Given the description of an element on the screen output the (x, y) to click on. 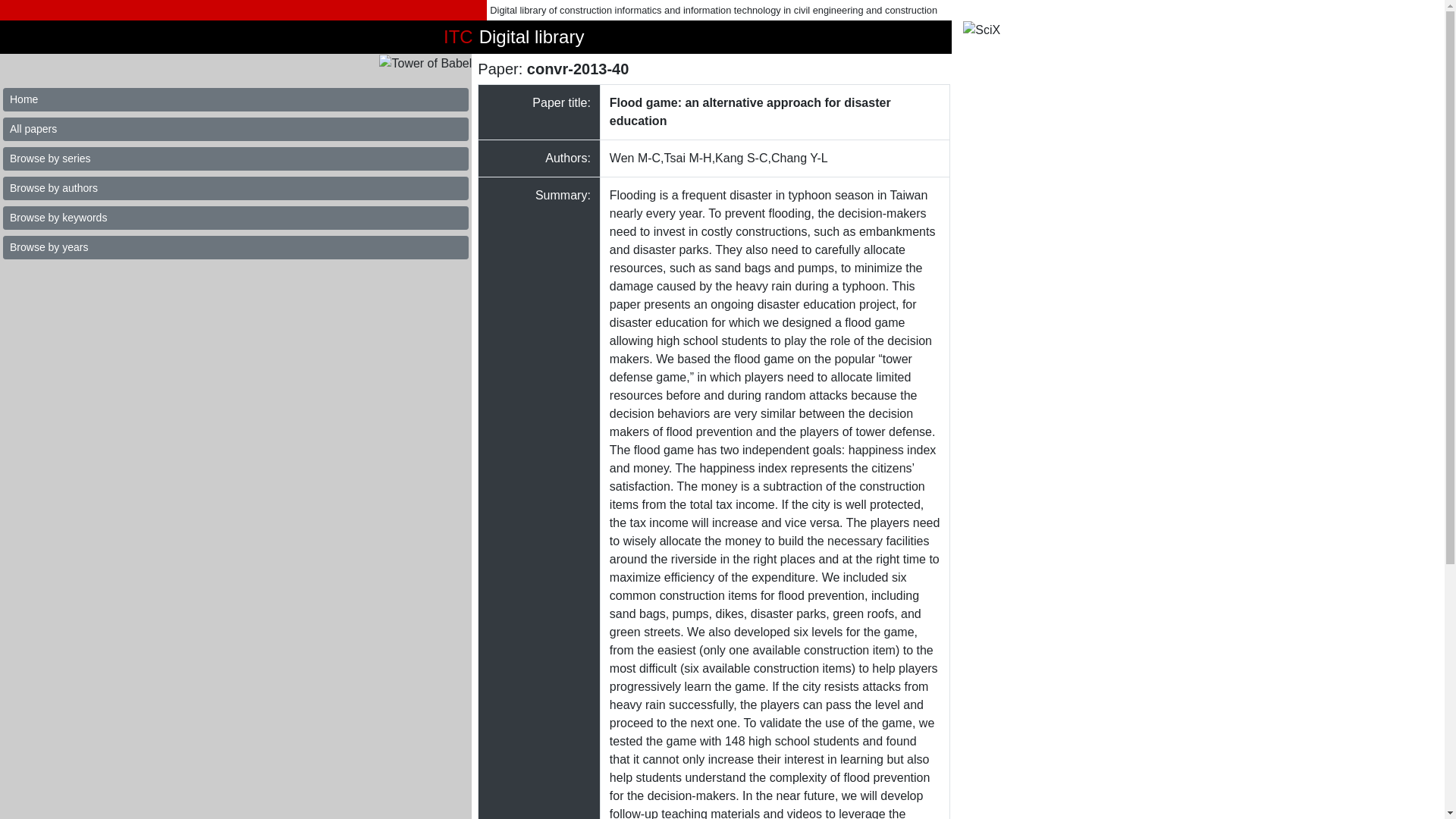
Browse by series (235, 158)
Home (235, 99)
Browse by years (235, 247)
Browse by keywords (235, 218)
Browse by authors (235, 187)
All papers (235, 128)
